Given the description of an element on the screen output the (x, y) to click on. 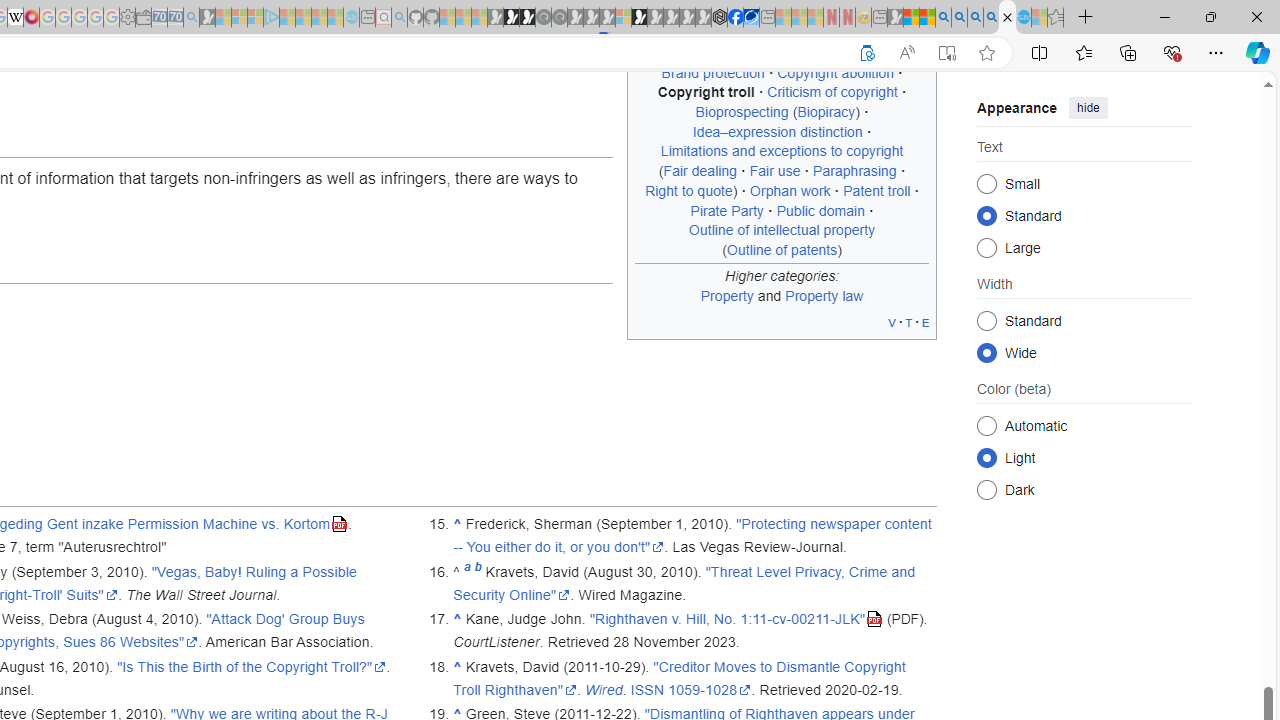
Sign in to your account - Sleeping (623, 17)
Jump up (457, 666)
Copyright troll - Wikipedia (1007, 17)
Jump up to: a (467, 571)
Bing Real Estate - Home sales and rental listings - Sleeping (191, 17)
Patent troll (877, 190)
